Given the description of an element on the screen output the (x, y) to click on. 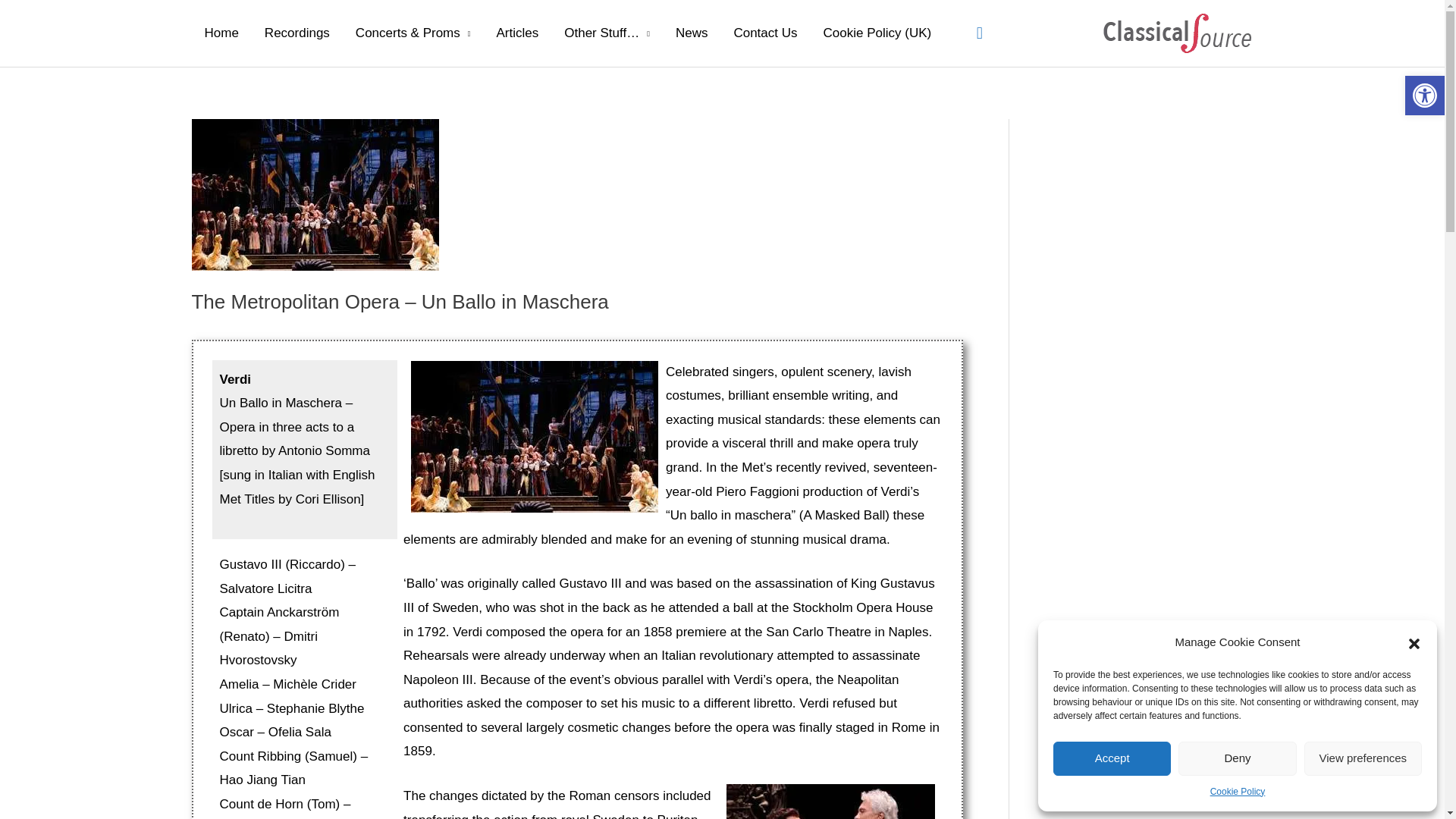
Cookie Policy (1237, 791)
Accept (1111, 758)
Articles (517, 33)
Recordings (296, 33)
View preferences (1363, 758)
Deny (1236, 758)
Accessibility Tools (1424, 95)
Home (220, 33)
